Given the description of an element on the screen output the (x, y) to click on. 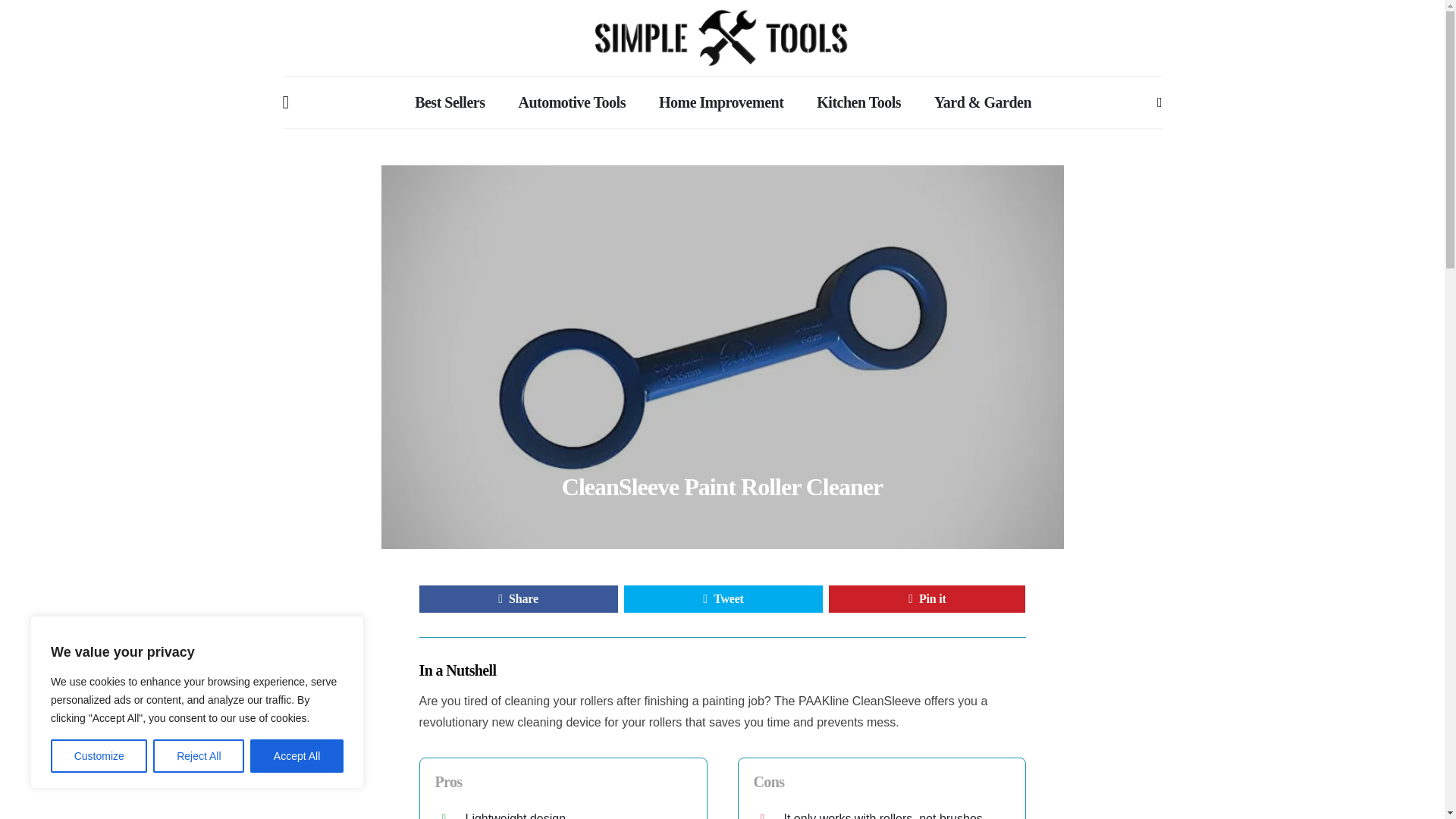
Share (518, 598)
Pin it (926, 598)
Accept All (296, 756)
Home Improvement (721, 101)
Automotive Tools (571, 101)
Best Sellers (449, 101)
Customize (98, 756)
Tweet (724, 598)
Reject All (198, 756)
Kitchen Tools (858, 101)
